Given the description of an element on the screen output the (x, y) to click on. 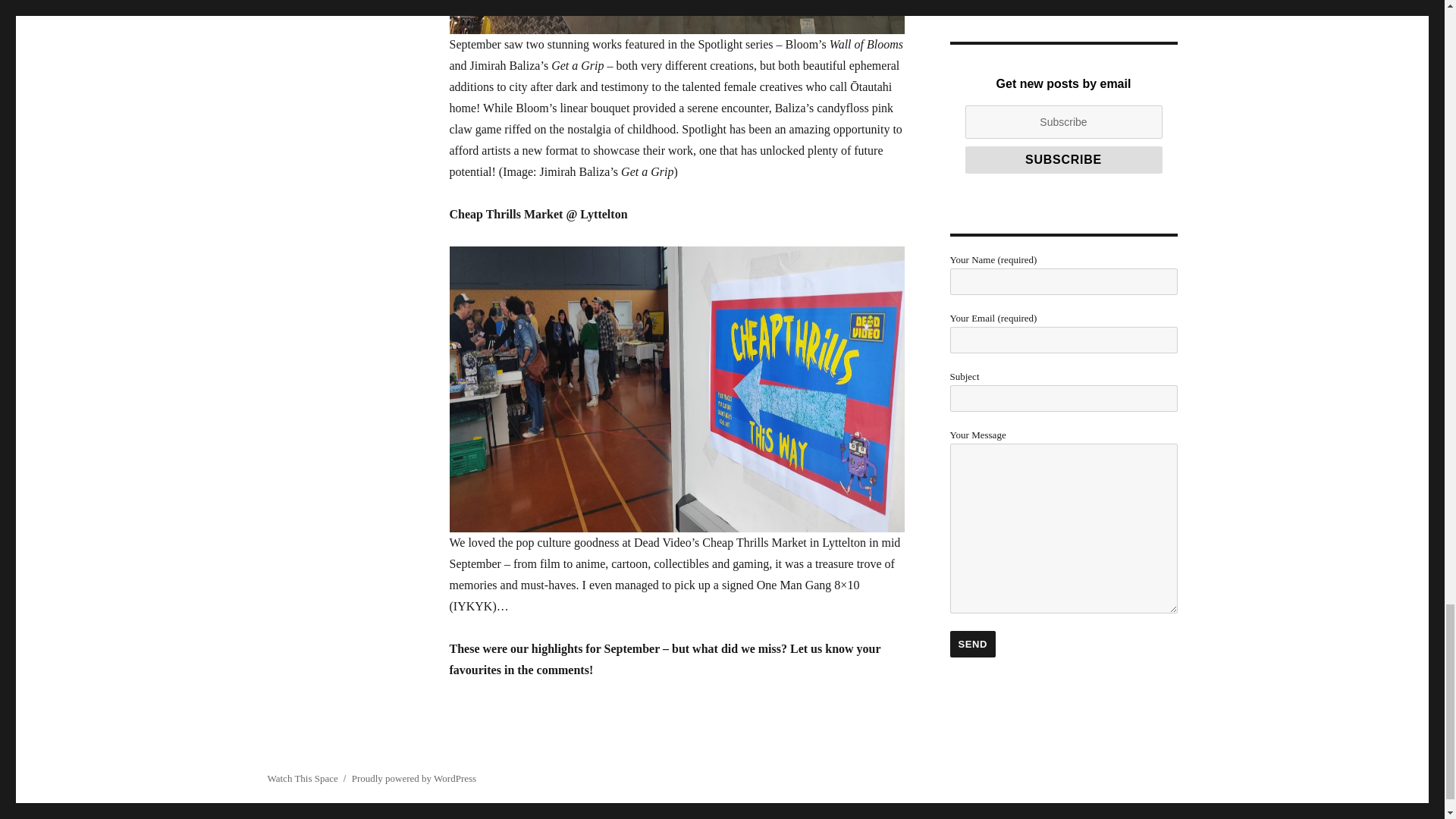
Subscribe (1062, 159)
Send (972, 643)
